Given the description of an element on the screen output the (x, y) to click on. 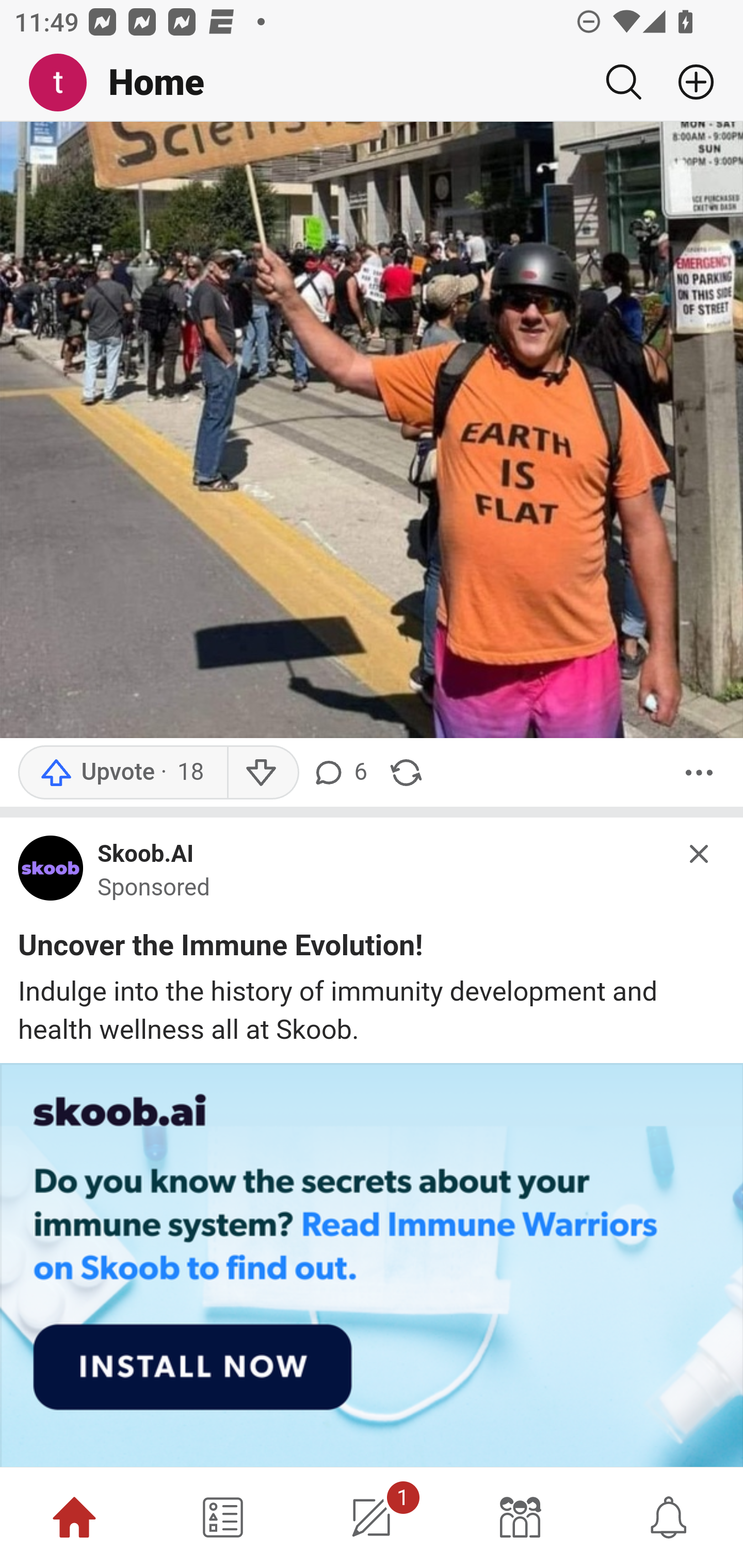
Me (64, 83)
Search (623, 82)
Add (688, 82)
Upvote (122, 773)
Downvote (262, 773)
6 comments (342, 773)
Share (405, 773)
More (699, 773)
Hide (699, 853)
main-qimg-1ebea3e07fd93bdc180c2ff967774d01 (50, 873)
Skoob.AI (145, 855)
Sponsored (154, 887)
Uncover the Immune Evolution! (220, 949)
1 (371, 1517)
